Given the description of an element on the screen output the (x, y) to click on. 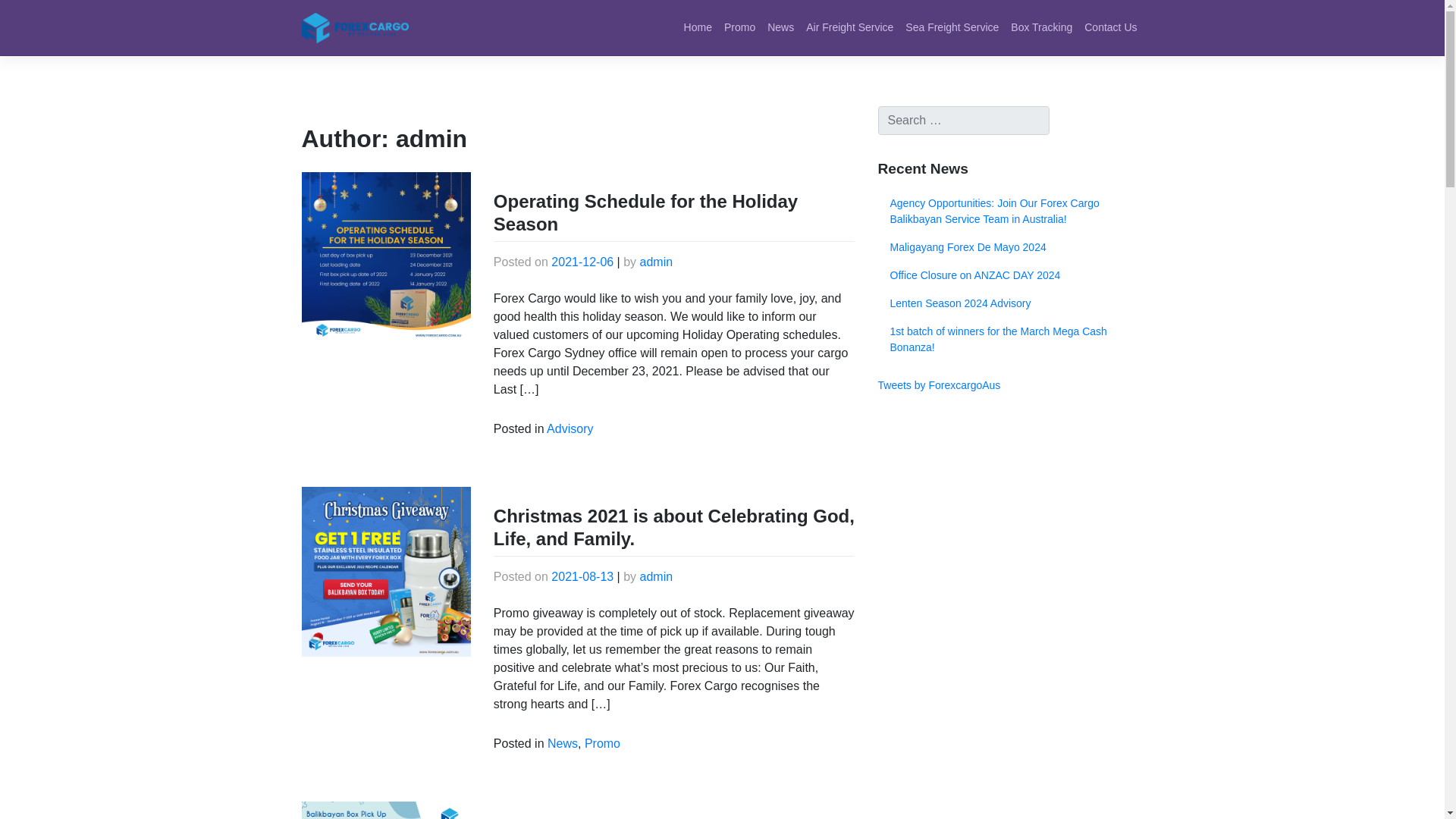
Air Freight Service (849, 27)
Promo (602, 743)
Operating Schedule for the Holiday Season (645, 212)
Contact Us (1110, 27)
Sea Freight Service (951, 27)
admin (656, 261)
2021-12-06 (581, 261)
Advisory (569, 428)
Search for: (963, 120)
Sea Freight Service (951, 27)
Home (697, 27)
Promo (739, 27)
Christmas 2021 is about Celebrating God, Life, and Family. (673, 527)
News (562, 743)
